Given the description of an element on the screen output the (x, y) to click on. 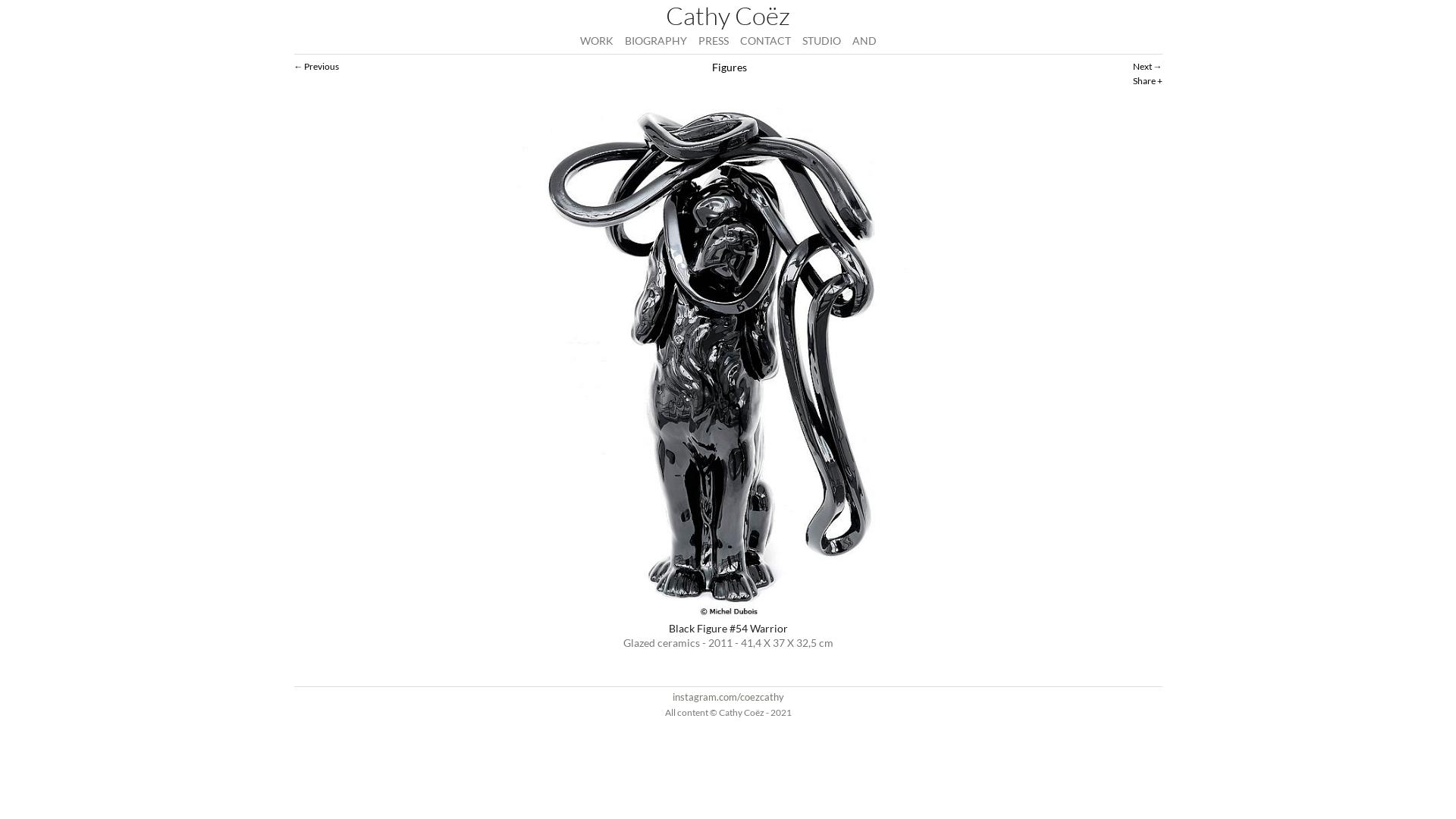
CONTACT Element type: text (765, 40)
WORK Element type: text (595, 40)
STUDIO Element type: text (821, 40)
AND Element type: text (864, 40)
instagram.com/coezcathy Element type: text (727, 696)
BIOGRAPHY Element type: text (655, 40)
Figures Element type: text (728, 66)
PRESS Element type: text (712, 40)
Next Element type: text (1147, 66)
Previous Element type: text (316, 66)
